Given the description of an element on the screen output the (x, y) to click on. 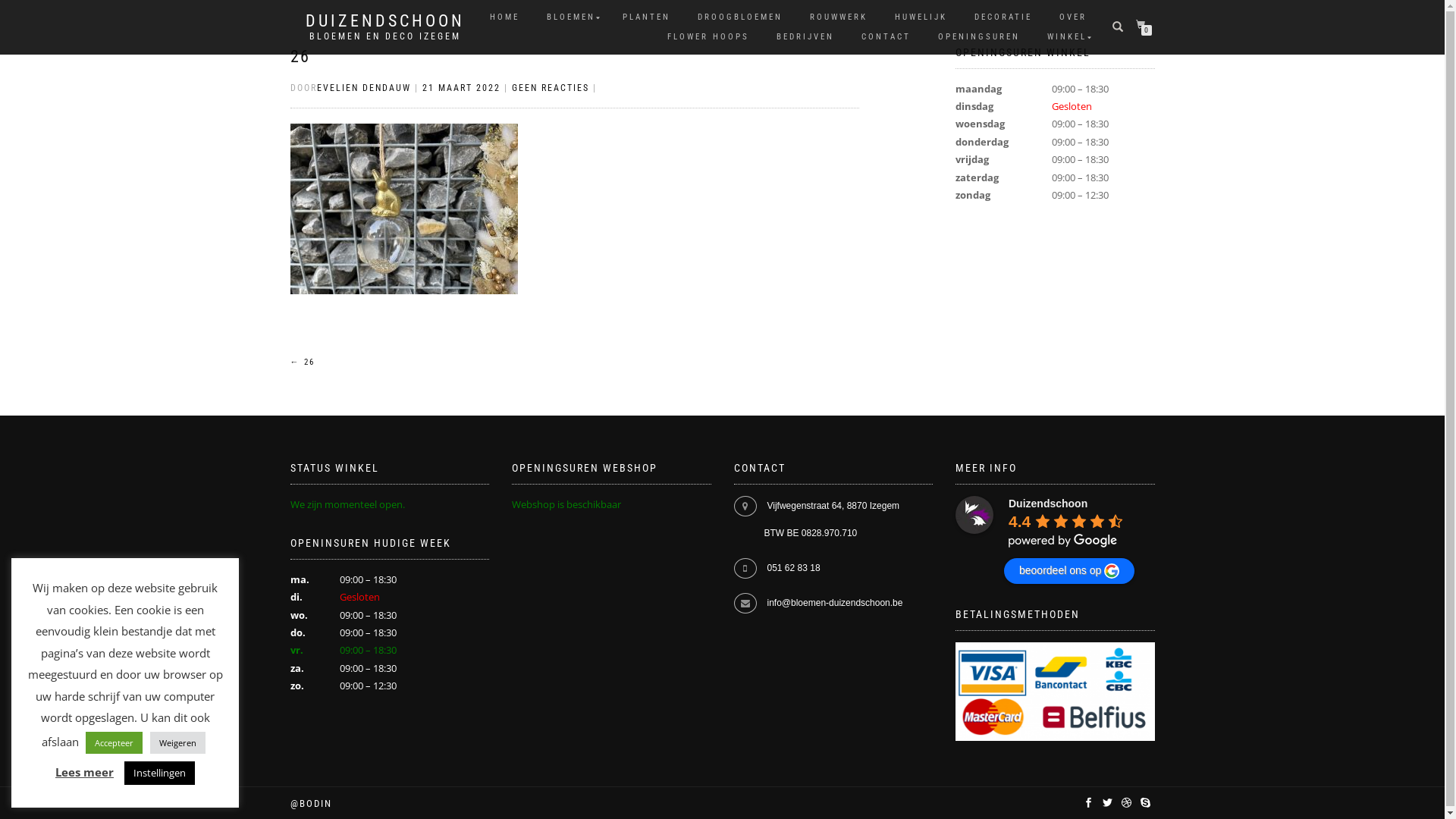
beoordeel ons op Element type: text (1069, 570)
Weigeren Element type: text (177, 742)
powered by Google Element type: hover (1062, 540)
OPENINGSUREN Element type: text (978, 37)
Duizendschoon Element type: hover (974, 514)
Duizendschoon Element type: text (1047, 503)
BLOEMEN Element type: text (570, 17)
DUIZENDSCHOON Element type: text (384, 21)
BLOEMEN EN DECO IZEGEM Element type: text (384, 36)
HOME Element type: text (503, 17)
WINKEL Element type: text (1066, 37)
HUWELIJK Element type: text (919, 17)
BEDRIJVEN Element type: text (804, 37)
21 MAART 2022 Element type: text (460, 87)
26 Element type: text (299, 56)
Lees meer Element type: text (84, 772)
OVER Element type: text (1073, 17)
Instellingen Element type: text (159, 772)
DECORATIE Element type: text (1003, 17)
PLANTEN Element type: text (646, 17)
EVELIEN DENDAUW Element type: text (363, 87)
info@bloemen-duizendschoon.be Element type: text (835, 602)
FLOWER HOOPS Element type: text (707, 37)
CONTACT Element type: text (885, 37)
Accepteer Element type: text (112, 742)
GEEN REACTIES Element type: text (549, 87)
051 62 83 18 Element type: text (793, 567)
0 Element type: text (1143, 24)
DROOGBLOEMEN Element type: text (739, 17)
ROUWWERK Element type: text (837, 17)
